Given the description of an element on the screen output the (x, y) to click on. 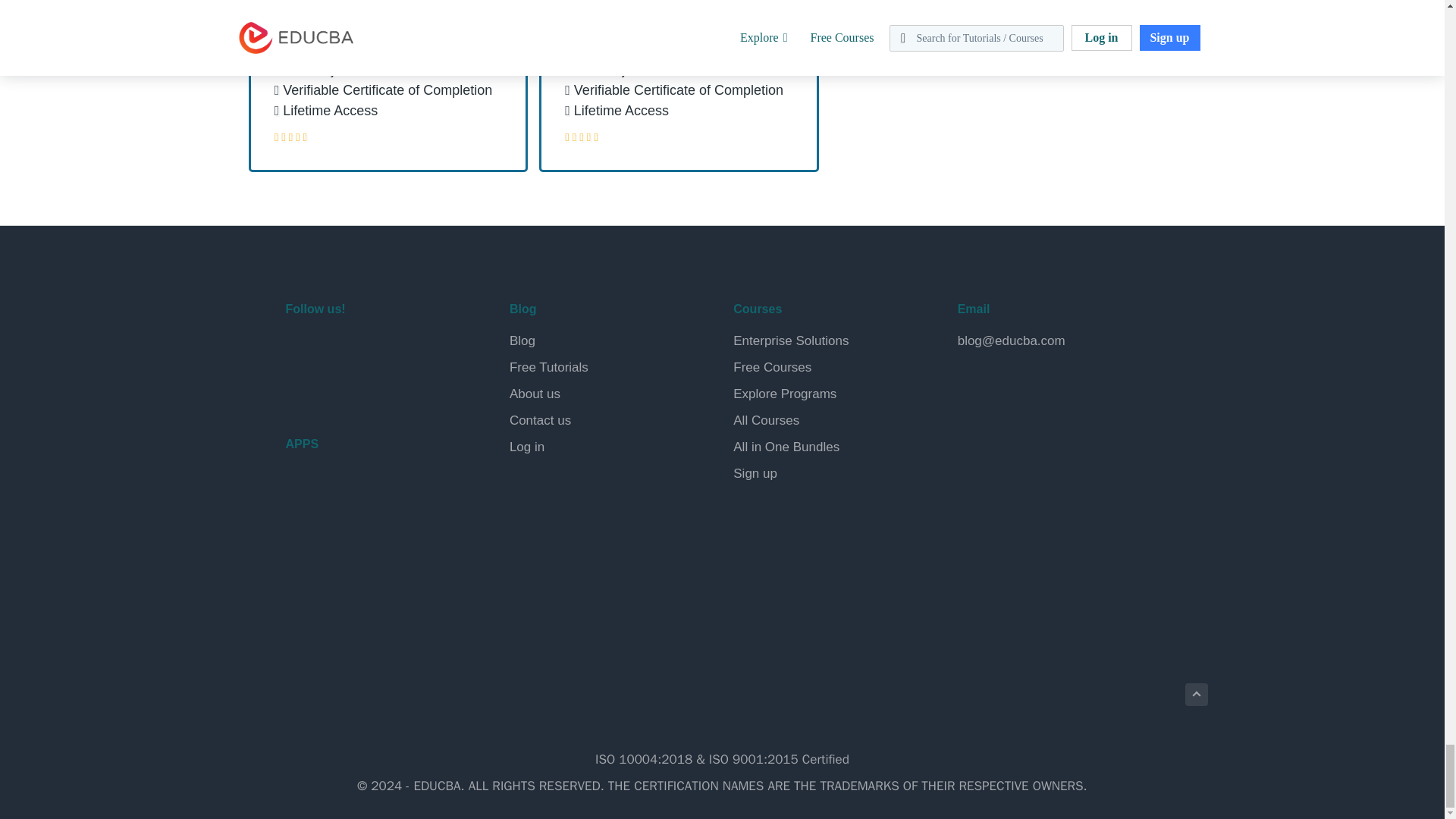
EDUCBA LinkedIN (371, 349)
EDUCBA iOS App (360, 562)
EDUCBA Coursera (336, 387)
EDUCBA Android App (360, 498)
EDUCBA Udemy (371, 387)
EDUCBA Instagram (408, 349)
EDUCBA Twitter (336, 349)
EDUCBA Youtube (300, 387)
EDUCBA Facebook (300, 349)
